Given the description of an element on the screen output the (x, y) to click on. 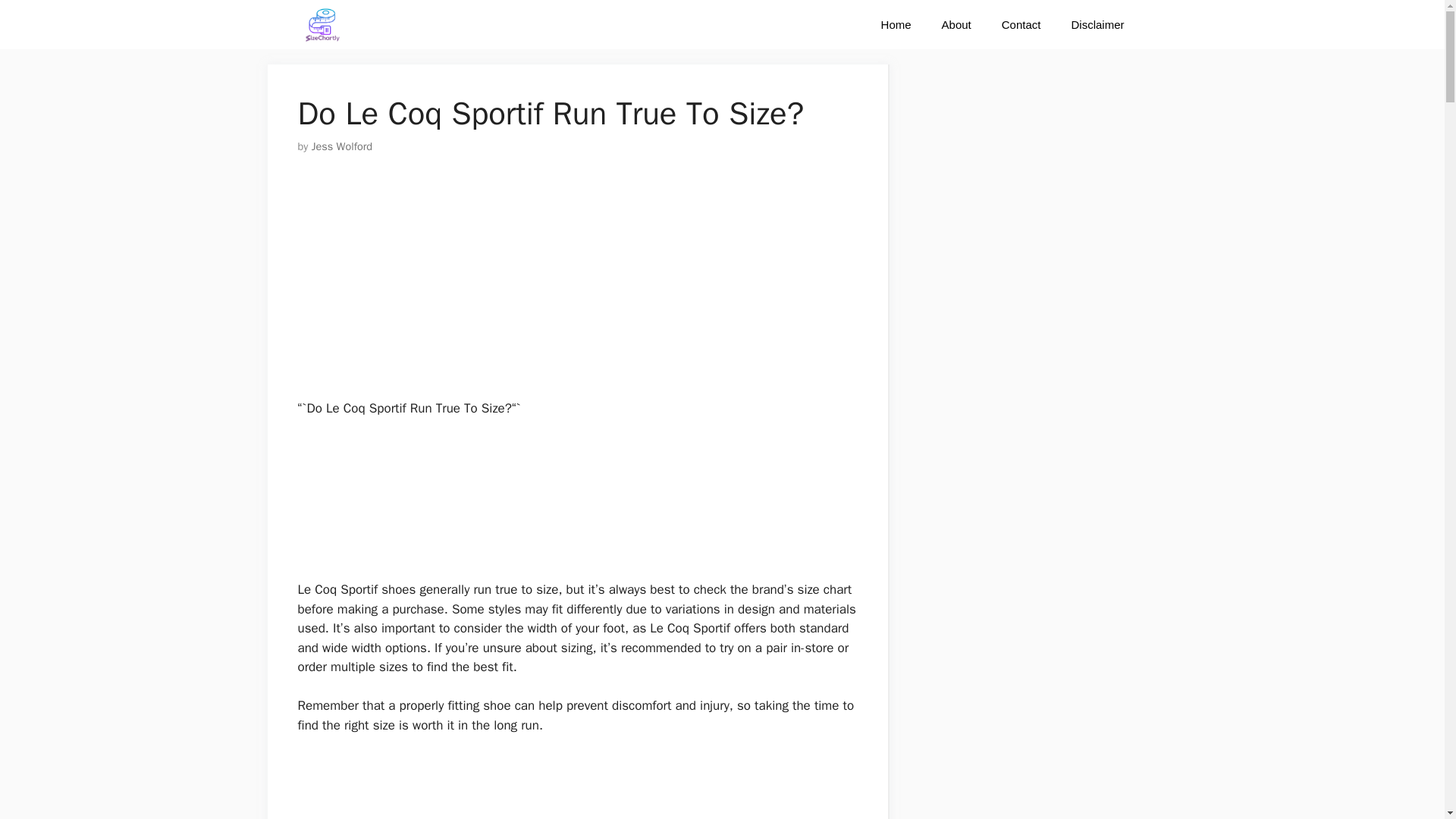
Advertisement (576, 786)
Advertisement (569, 286)
Advertisement (576, 505)
Jess Wolford (341, 146)
View all posts by Jess Wolford (341, 146)
Disclaimer (1096, 23)
About (956, 23)
Home (896, 23)
Contact (1022, 23)
